Given the description of an element on the screen output the (x, y) to click on. 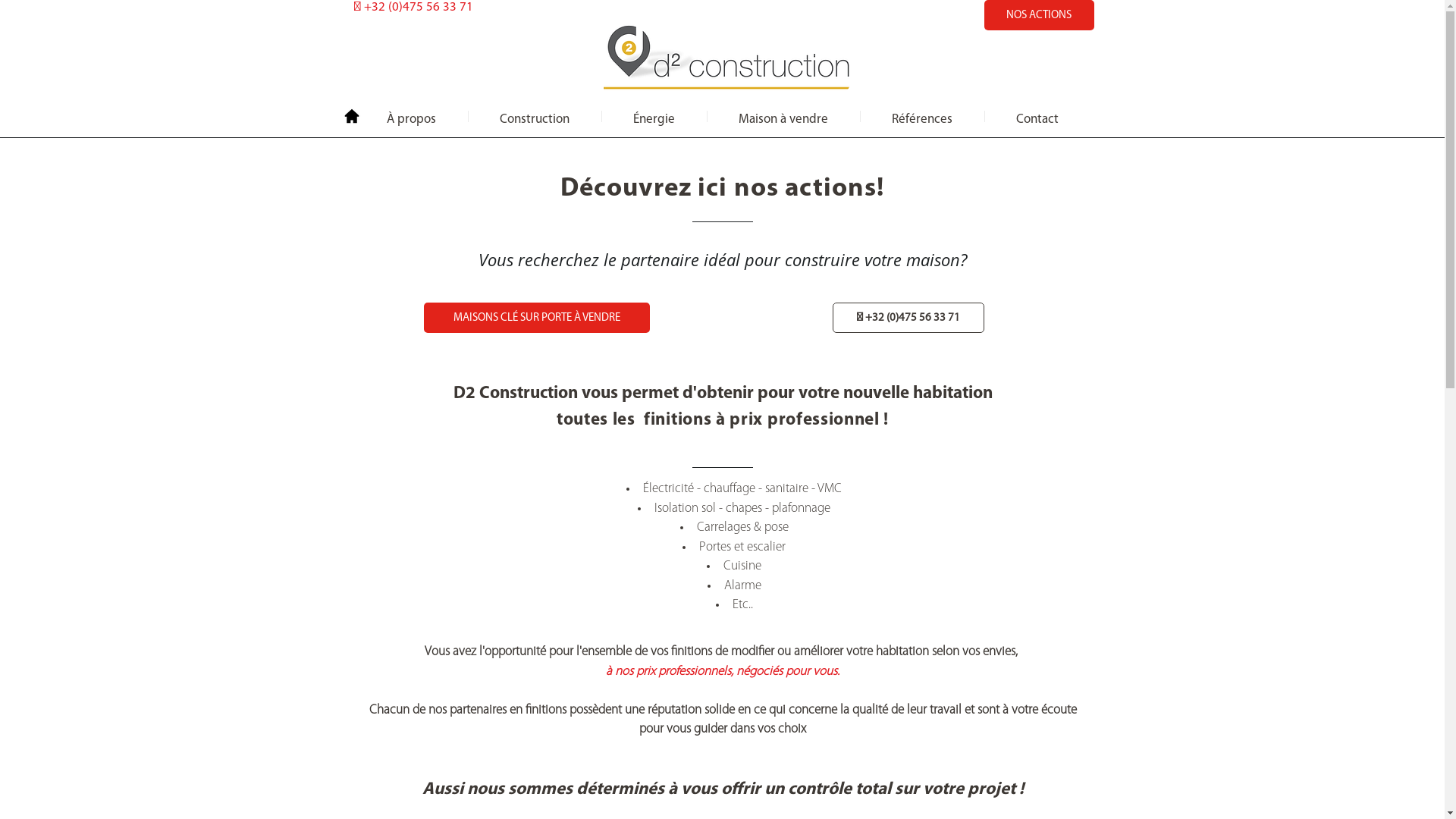
Construction Element type: text (534, 116)
Contact Element type: text (1036, 116)
NOS ACTIONS Element type: text (1039, 15)
